Given the description of an element on the screen output the (x, y) to click on. 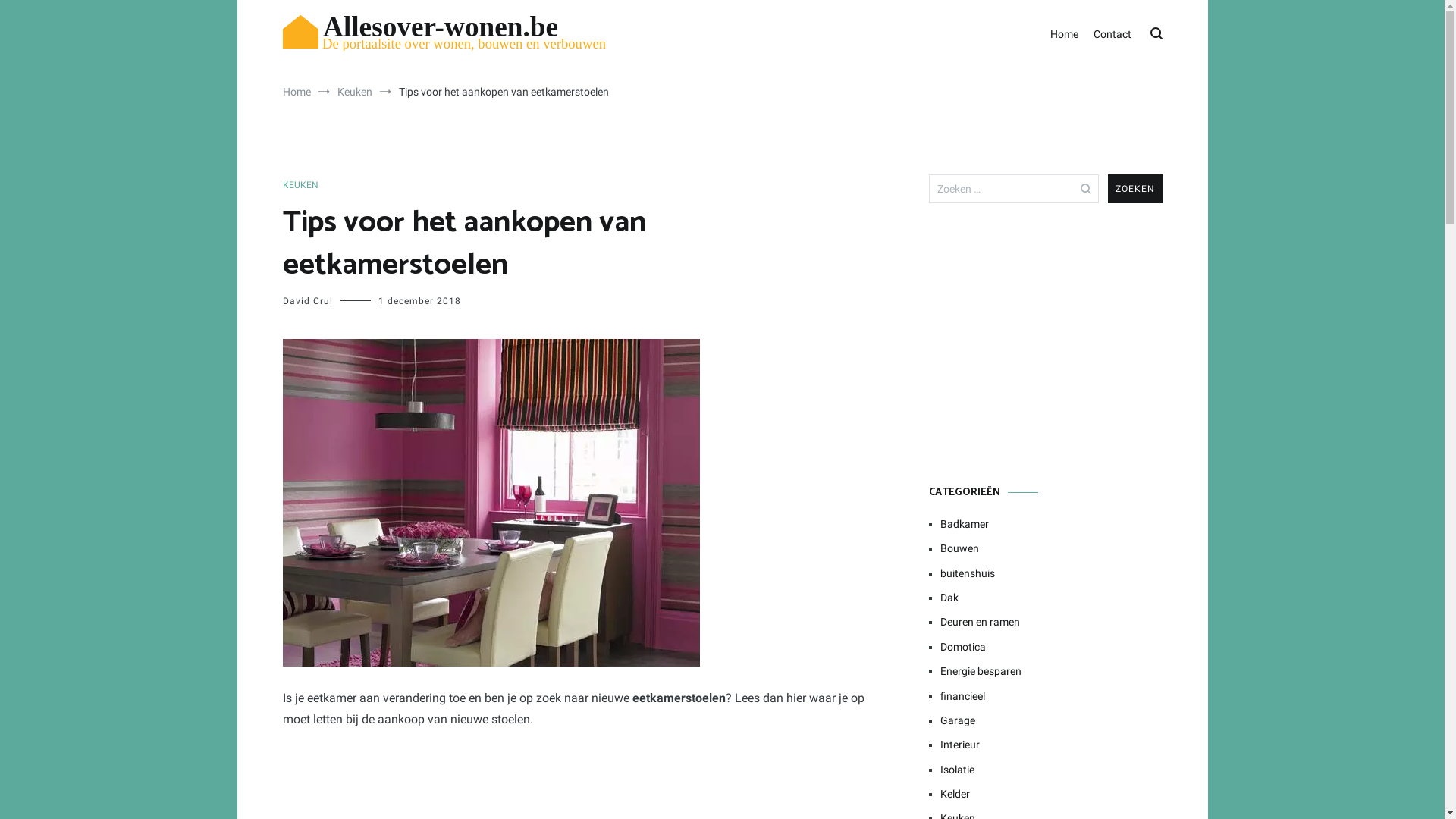
Allesover-wonen.be Element type: text (352, 67)
Isolatie Element type: text (1051, 769)
Zoeken Element type: text (1134, 188)
1 december 2018 Element type: text (418, 300)
KEUKEN Element type: text (299, 185)
Keuken Element type: text (353, 91)
Advertisement Element type: hover (1044, 343)
Badkamer Element type: text (1051, 523)
financieel Element type: text (1051, 695)
Kelder Element type: text (1051, 793)
Zoeken Element type: text (41, 16)
Dak Element type: text (1051, 597)
Domotica Element type: text (1051, 646)
Bouwen Element type: text (1051, 547)
Interieur Element type: text (1051, 744)
Energie besparen Element type: text (1051, 670)
David Crul Element type: text (307, 300)
Contact Element type: text (1112, 34)
Deuren en ramen Element type: text (1051, 621)
Home Element type: text (296, 91)
Garage Element type: text (1051, 720)
buitenshuis Element type: text (1051, 572)
Home Element type: text (1063, 34)
